Given the description of an element on the screen output the (x, y) to click on. 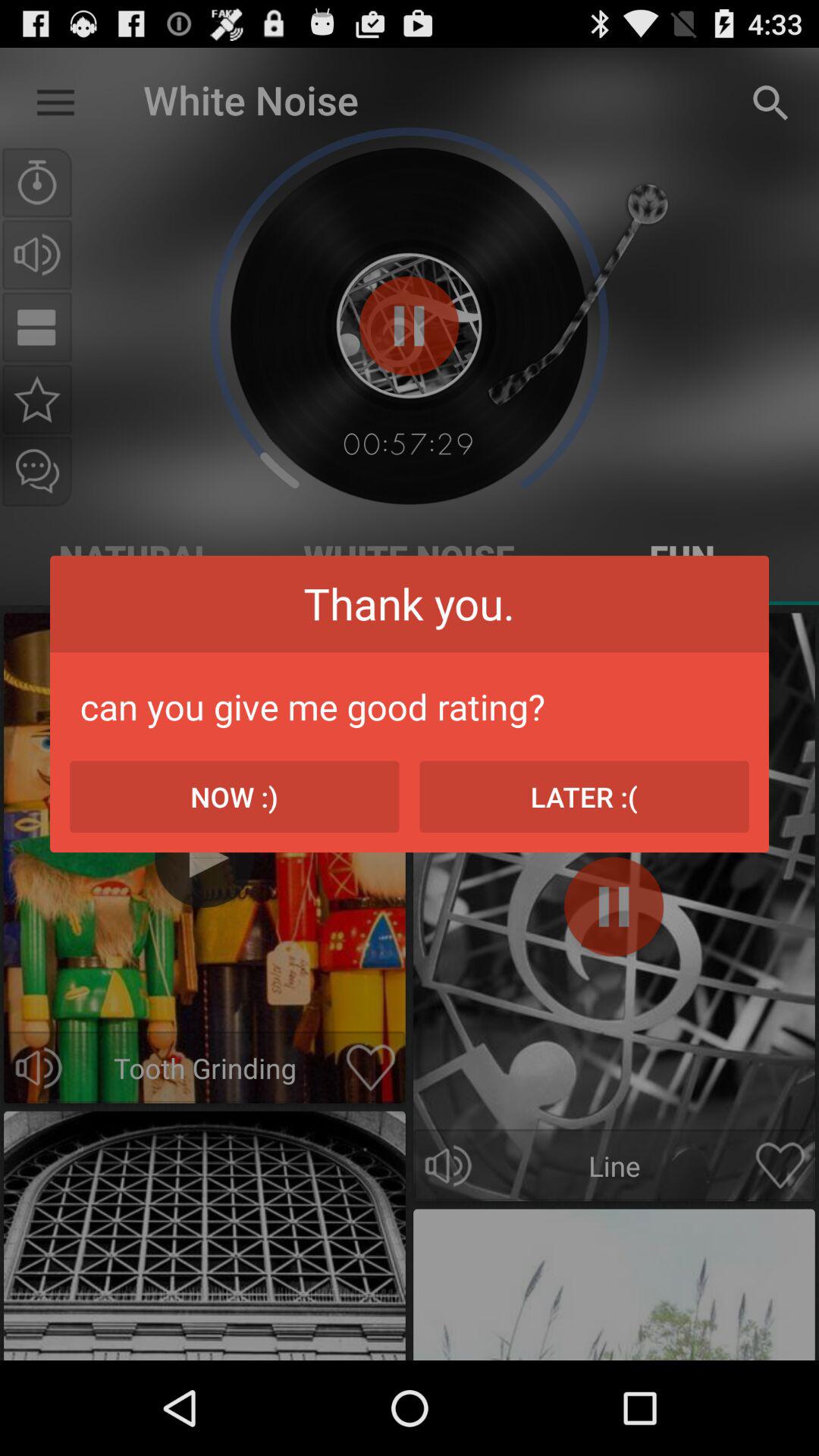
press the item below the can you give icon (234, 796)
